Given the description of an element on the screen output the (x, y) to click on. 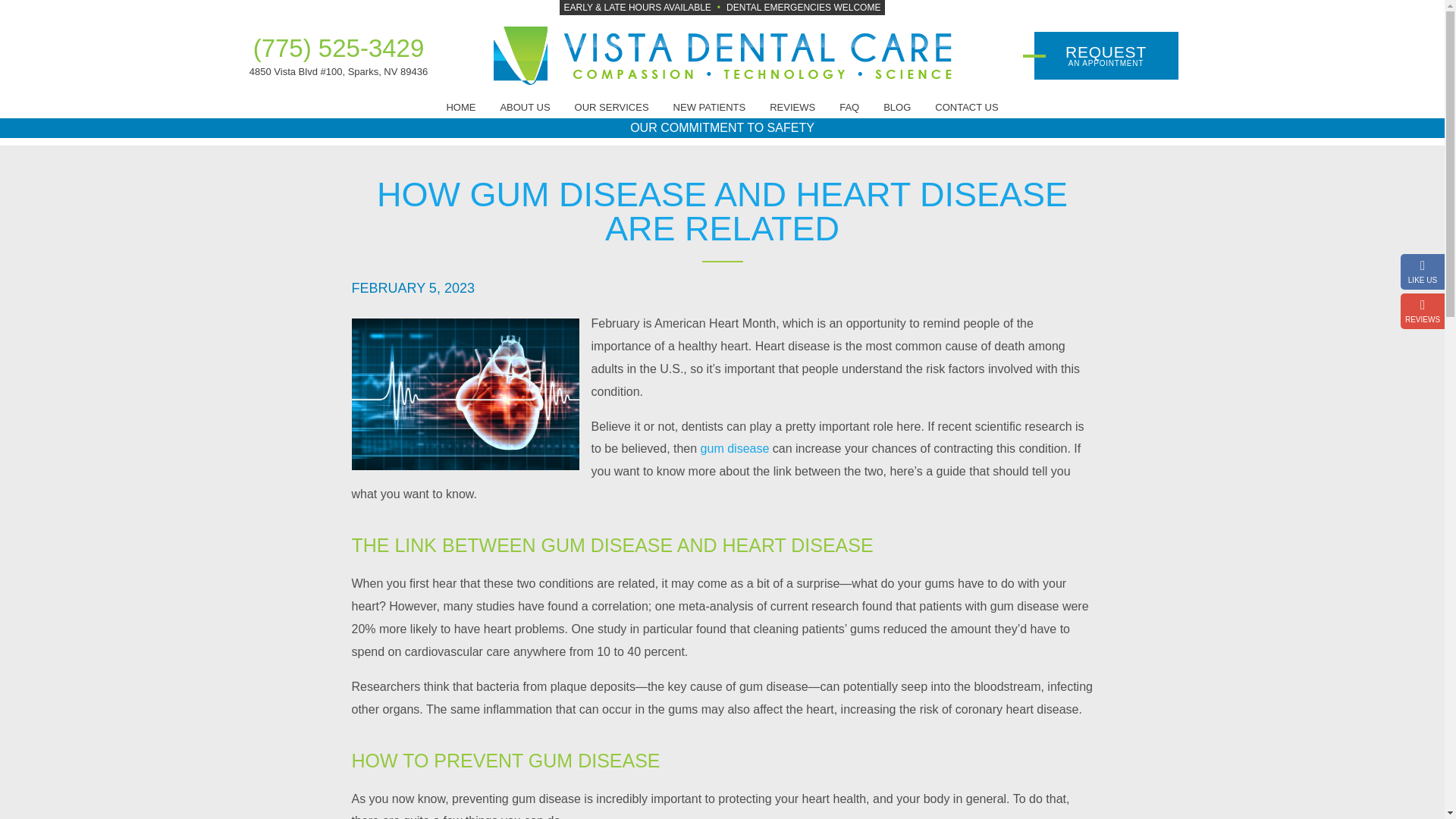
OUR SERVICES (612, 106)
HOME (460, 106)
ABOUT US (524, 106)
DENTAL EMERGENCIES WELCOME (1105, 55)
